Given the description of an element on the screen output the (x, y) to click on. 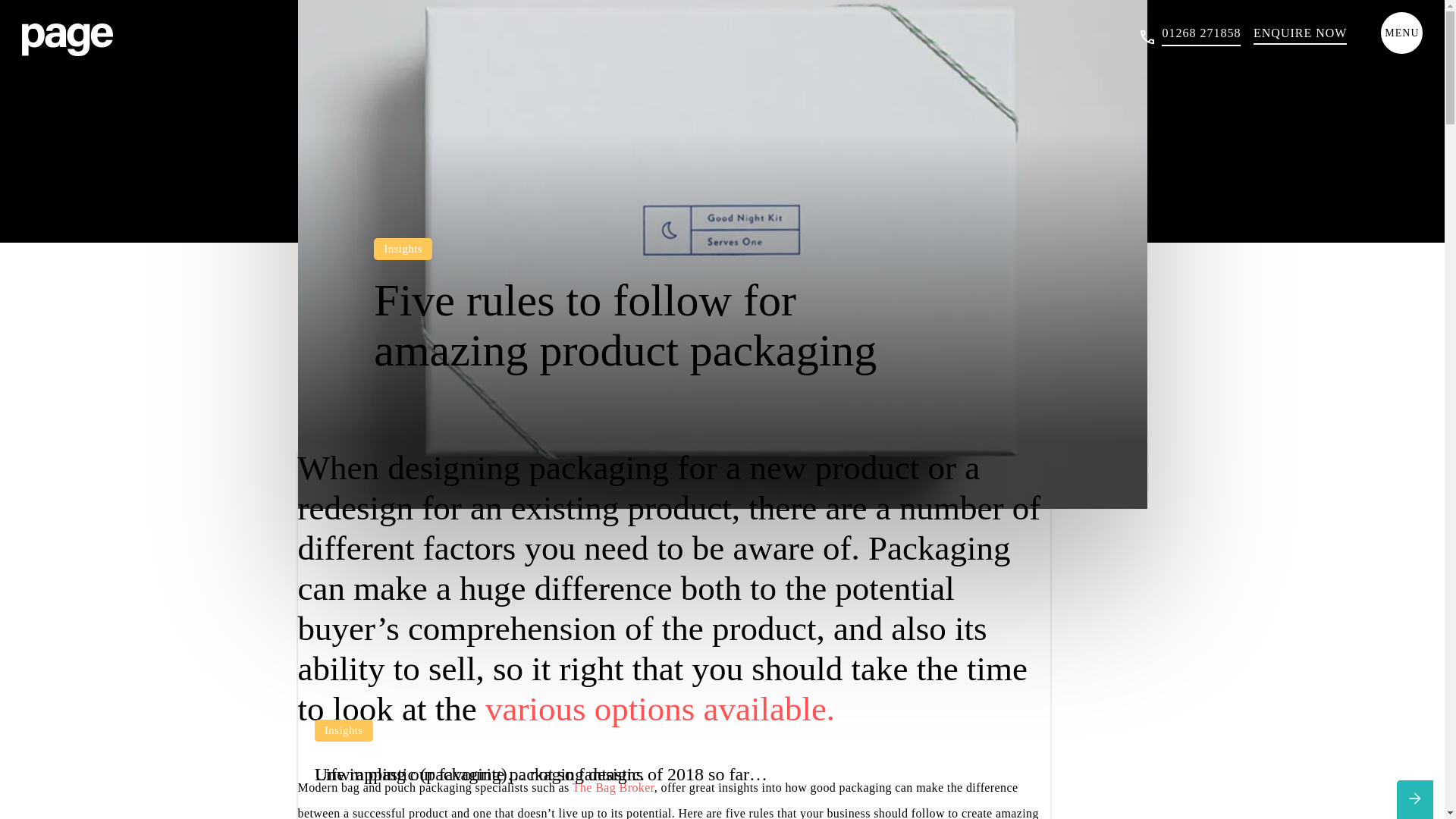
The Bag Broker (612, 787)
ENQUIRE NOW (1299, 35)
01268 271858 (1200, 36)
various options available. (659, 709)
Page Creative Logo (67, 39)
